Given the description of an element on the screen output the (x, y) to click on. 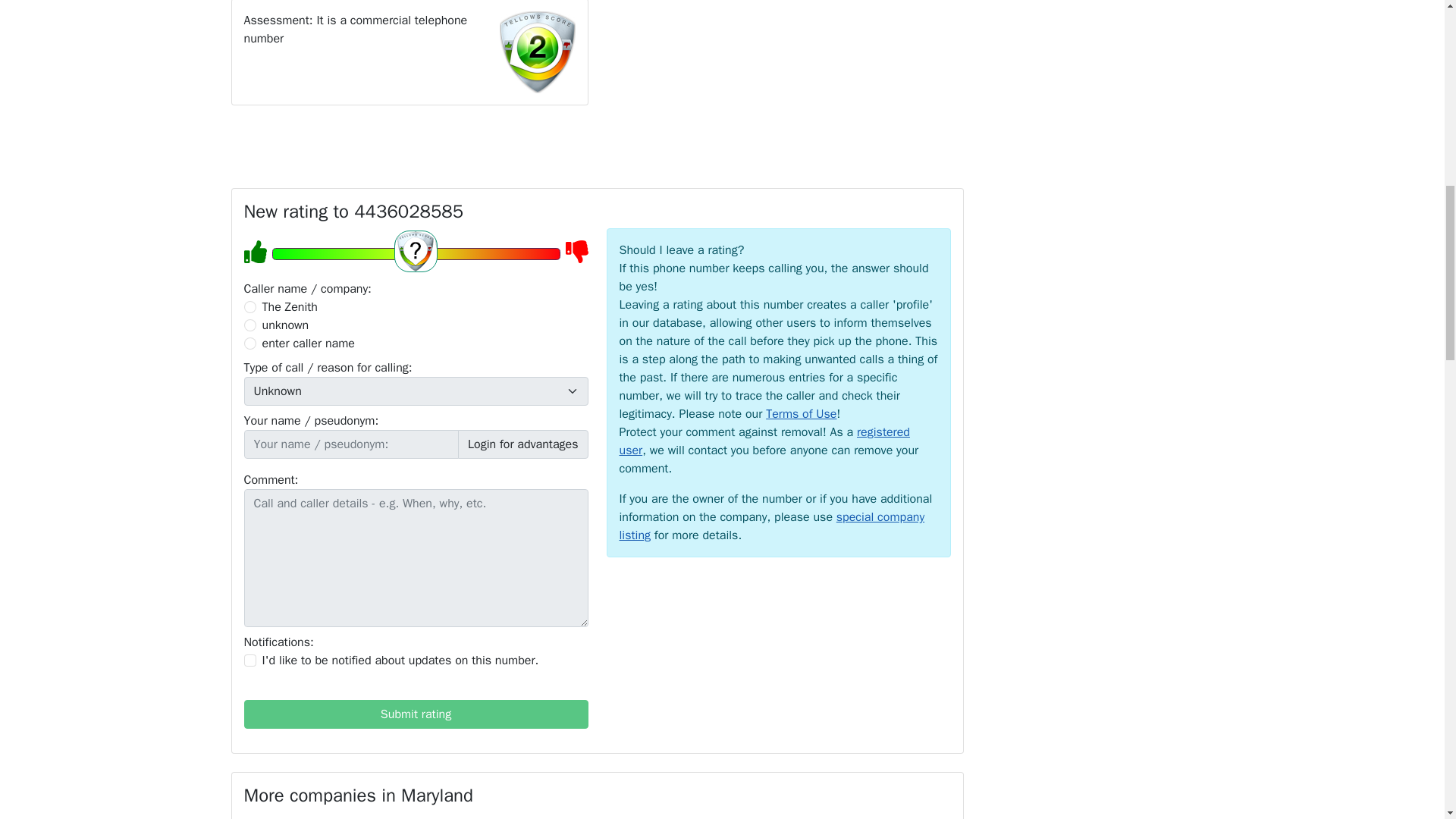
registered user (763, 441)
2 (250, 325)
3 (250, 343)
special company listing (771, 525)
Login for advantages (523, 443)
5 (414, 253)
Terms of Use (800, 413)
1 (250, 660)
Submit rating (416, 714)
Submit rating (416, 714)
0 (250, 306)
